Given the description of an element on the screen output the (x, y) to click on. 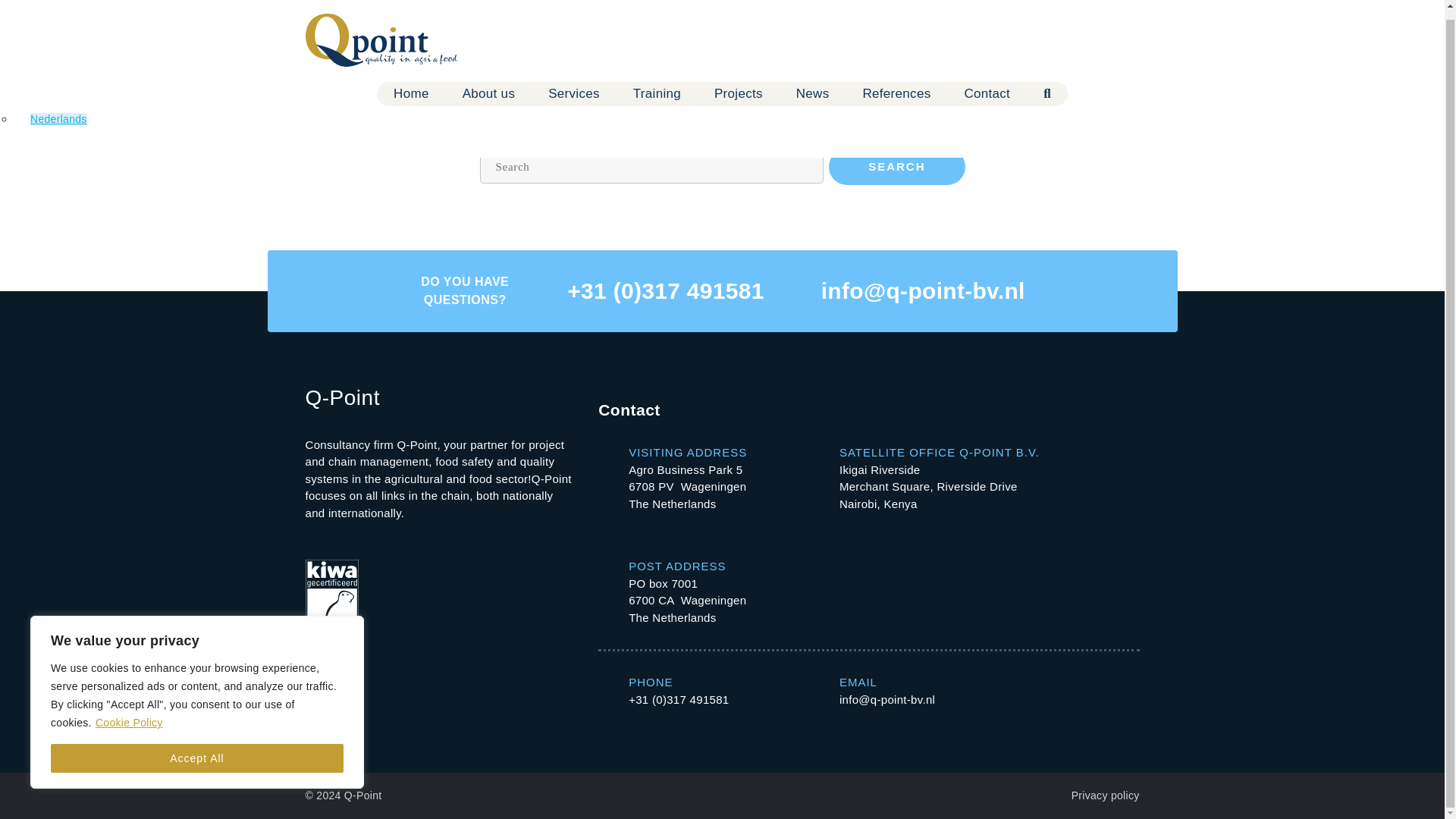
Accept All (196, 749)
Follow us on Twitter (1115, 30)
Training (657, 85)
Contact (986, 85)
Services (573, 85)
Nederlands (58, 110)
References (895, 85)
Home (411, 85)
Projects (738, 85)
Nederlands (58, 110)
